Given the description of an element on the screen output the (x, y) to click on. 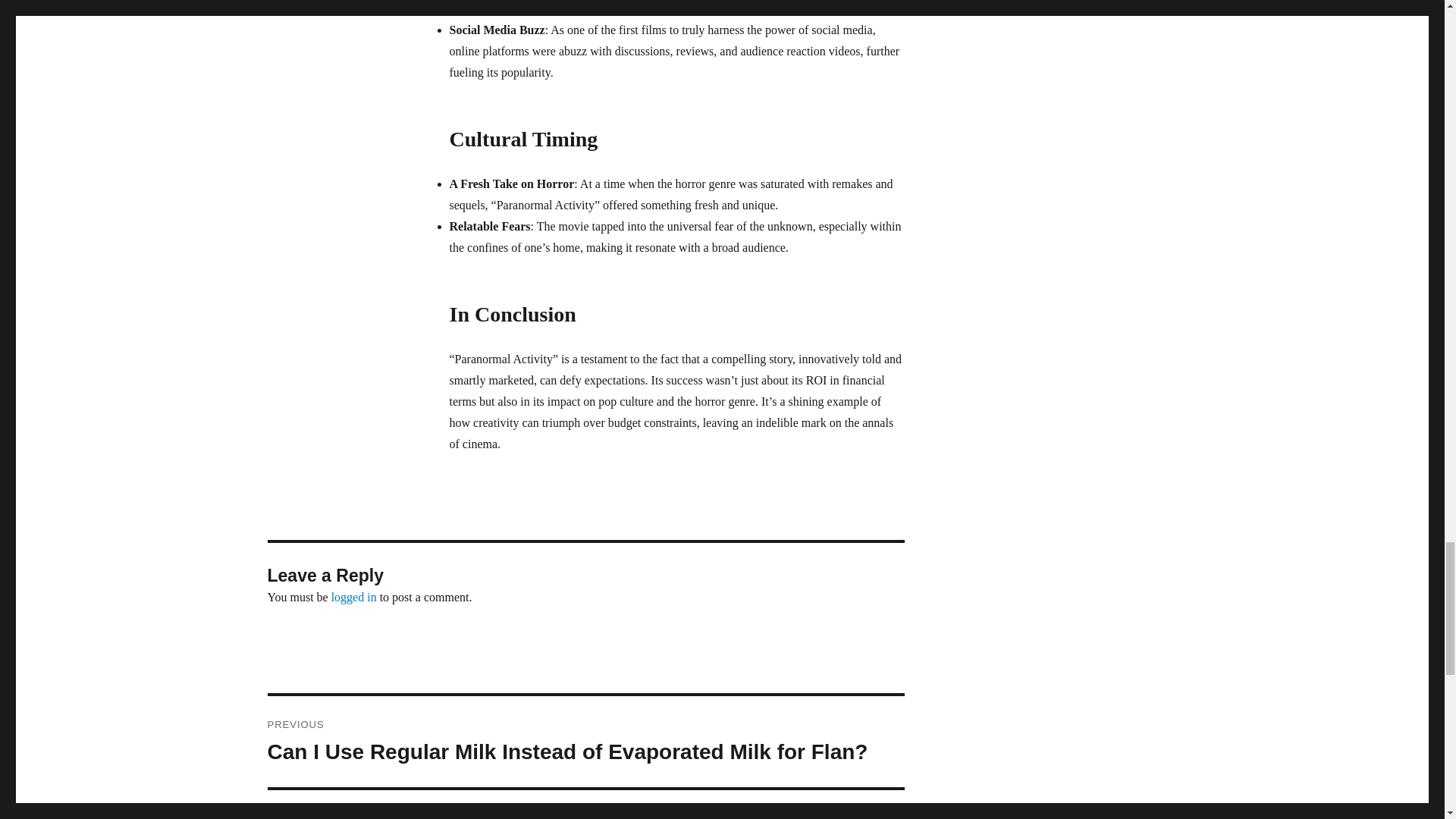
logged in (354, 596)
